Given the description of an element on the screen output the (x, y) to click on. 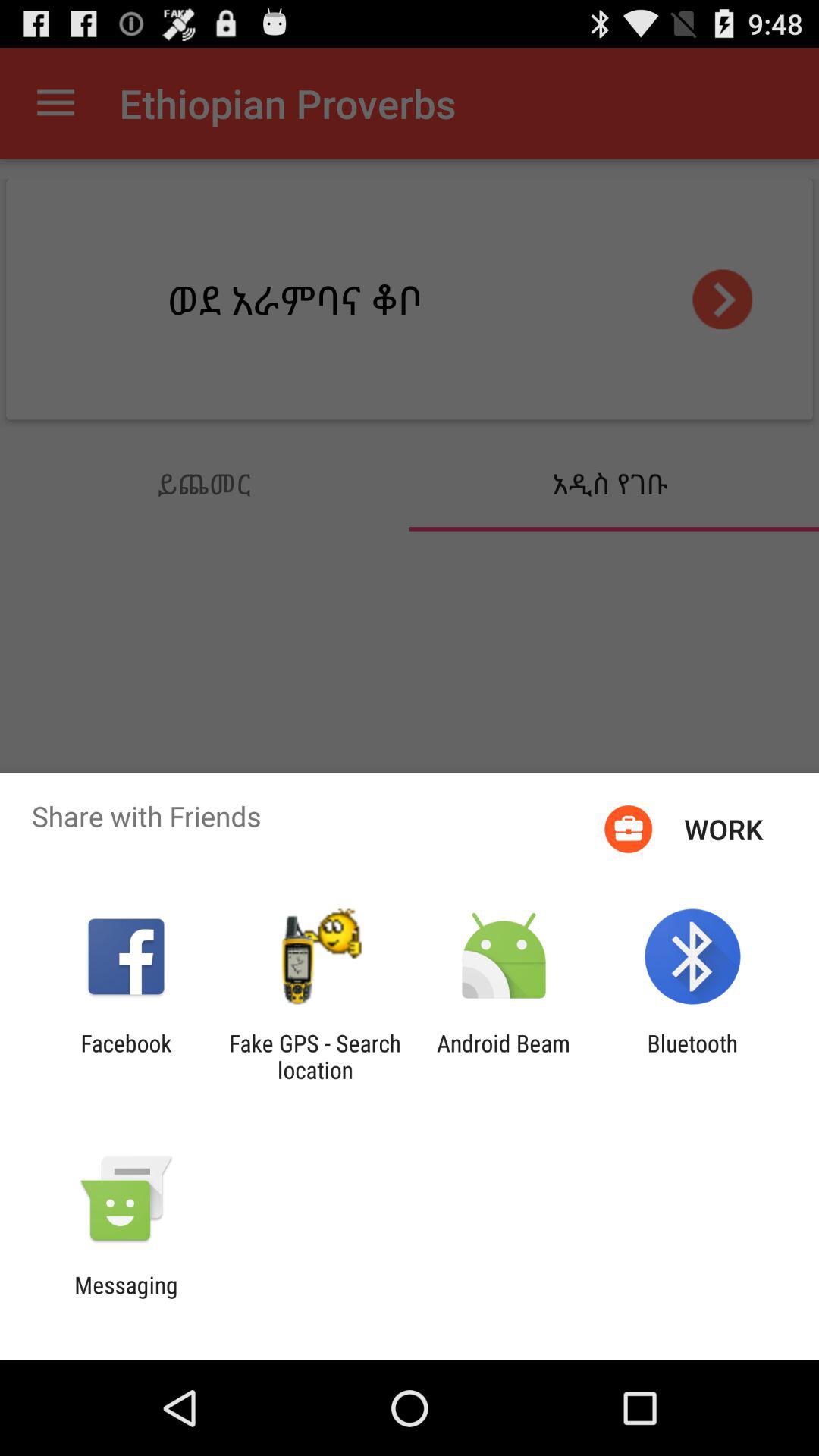
press the item next to the fake gps search item (503, 1056)
